Given the description of an element on the screen output the (x, y) to click on. 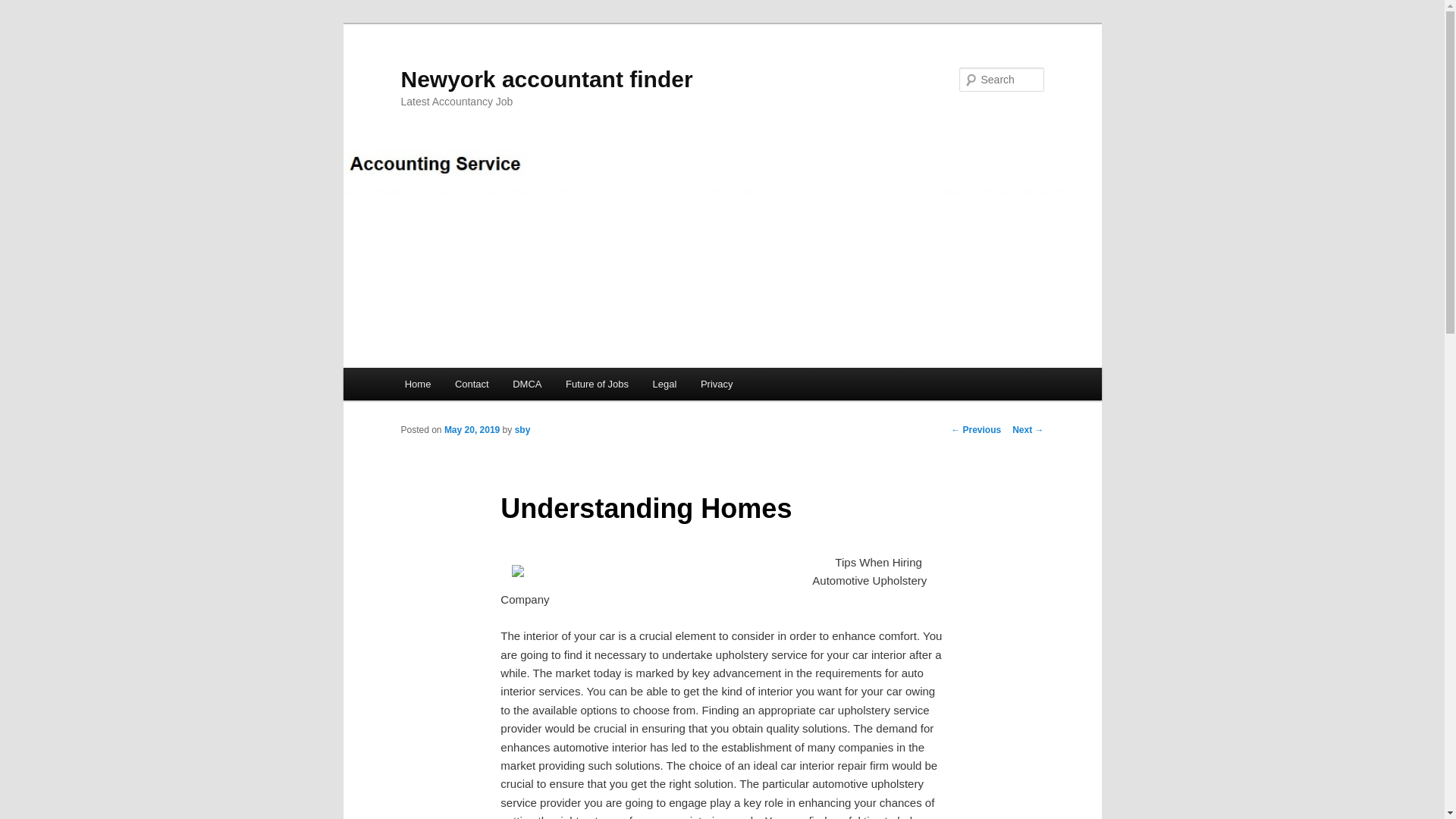
View all posts by sby (523, 429)
Search (21, 11)
Privacy (716, 383)
8:31 pm (471, 429)
Future of Jobs (596, 383)
sby (523, 429)
DMCA (526, 383)
May 20, 2019 (471, 429)
Home (417, 383)
Contact (471, 383)
Search (24, 8)
Legal (664, 383)
Newyork accountant finder (546, 78)
